Given the description of an element on the screen output the (x, y) to click on. 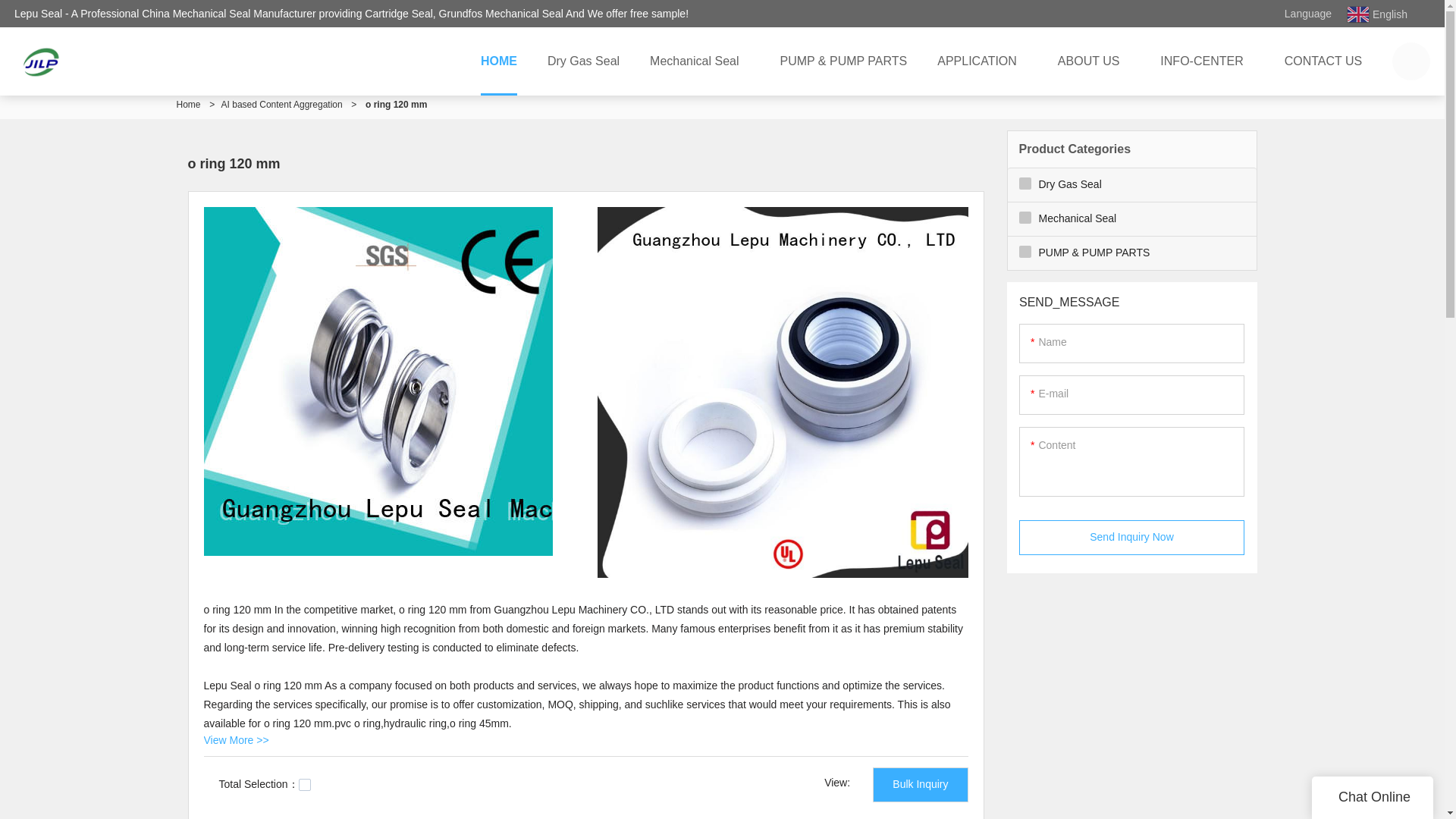
Dry Gas Seal (583, 61)
on (304, 784)
HOME (498, 61)
Mechanical Seal (699, 61)
APPLICATION (981, 61)
